Given the description of an element on the screen output the (x, y) to click on. 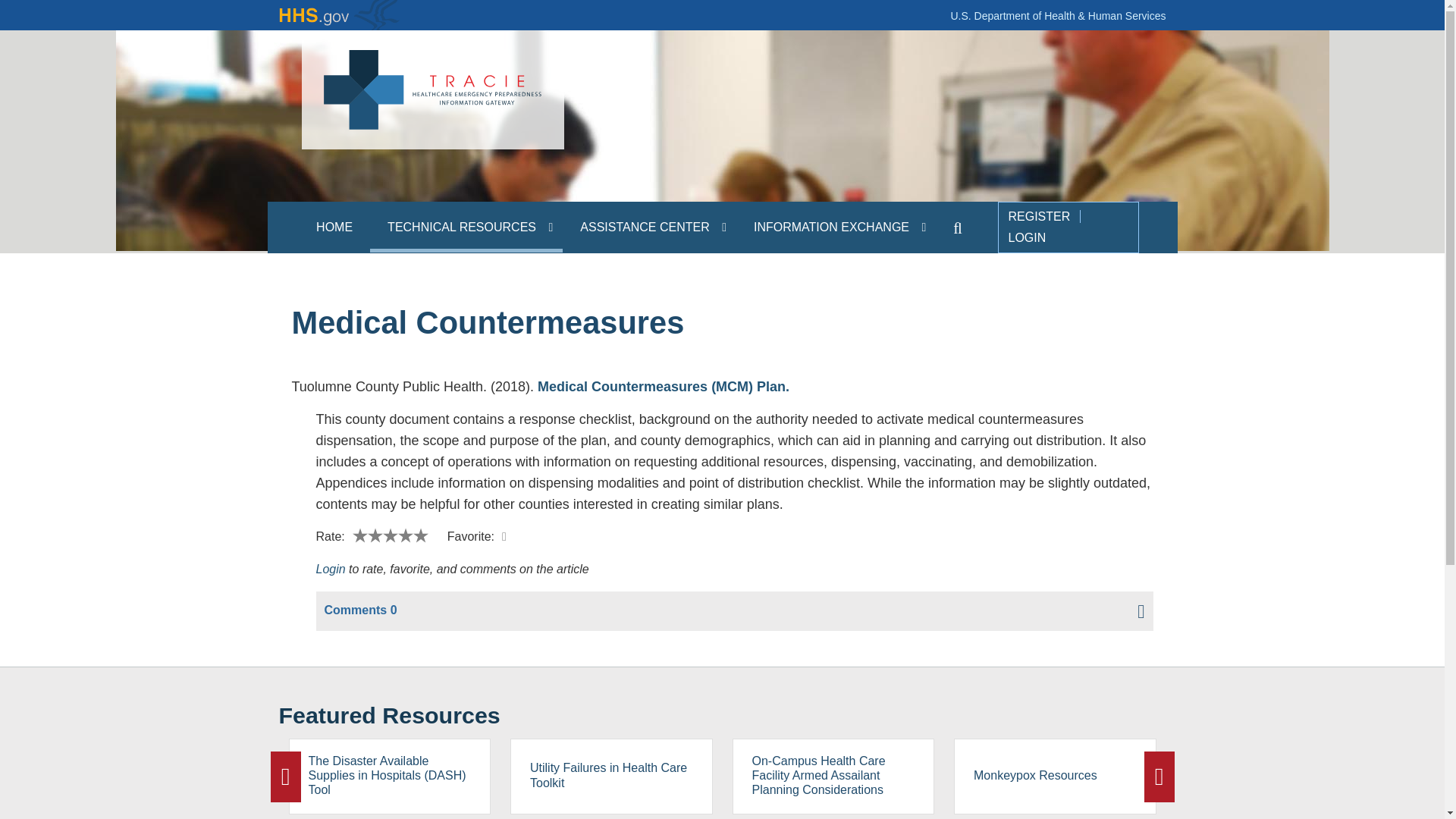
HOME (333, 225)
HHS (339, 15)
LOGIN (1026, 237)
Search (957, 225)
INFORMATION EXCHANGE (836, 225)
ASSISTANCE CENTER (649, 225)
REGISTER (1038, 215)
